Given the description of an element on the screen output the (x, y) to click on. 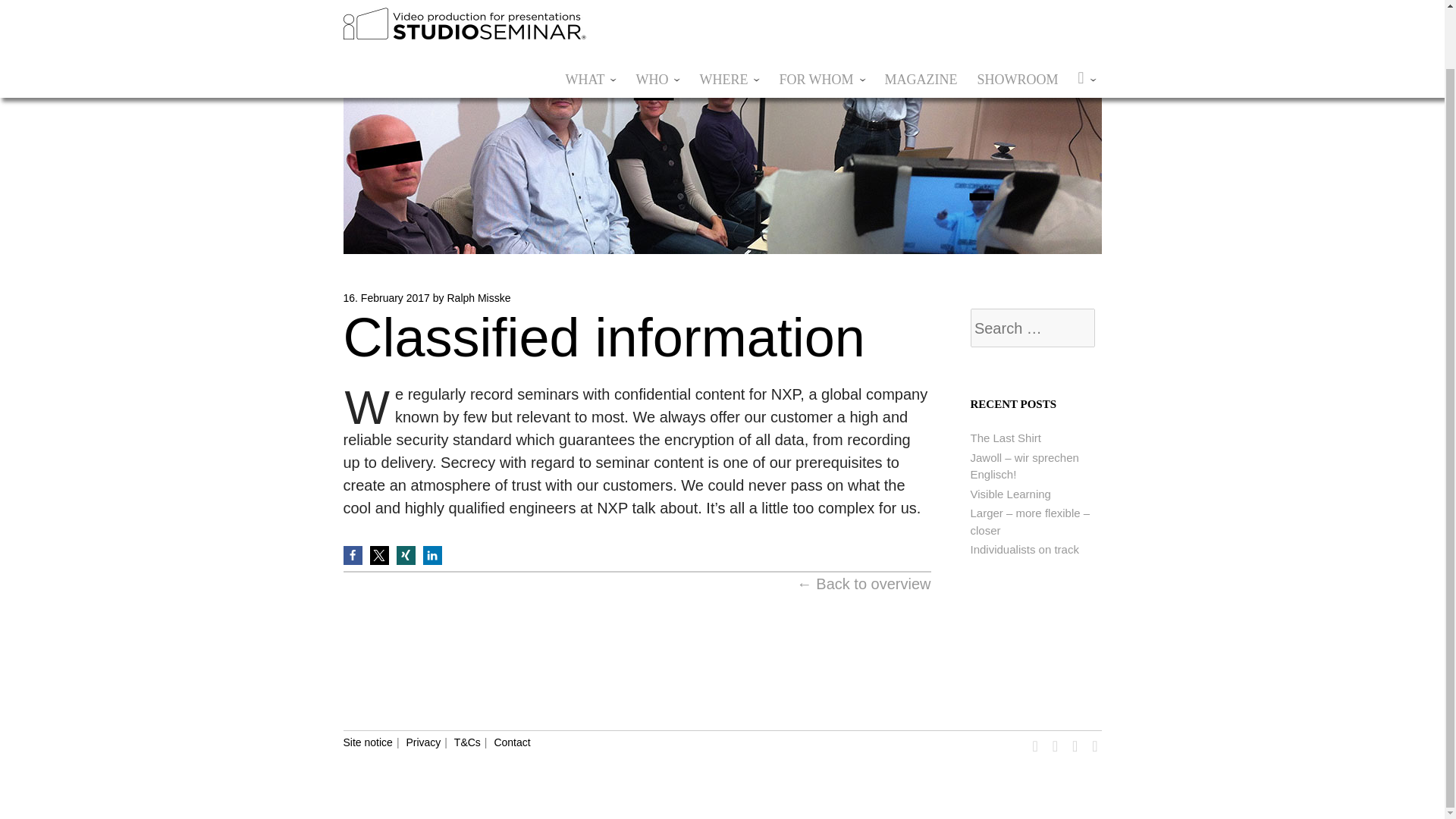
SKIP TO CONTENT (619, 17)
View all posts by Ralph Misske (478, 297)
WHAT (590, 17)
Share on LinkedIn (432, 555)
Skip to content (619, 17)
Share on Facebook (351, 555)
WHERE (729, 17)
Share on X (378, 555)
15:10 (385, 297)
WHO (656, 17)
Share on XING (405, 555)
